Given the description of an element on the screen output the (x, y) to click on. 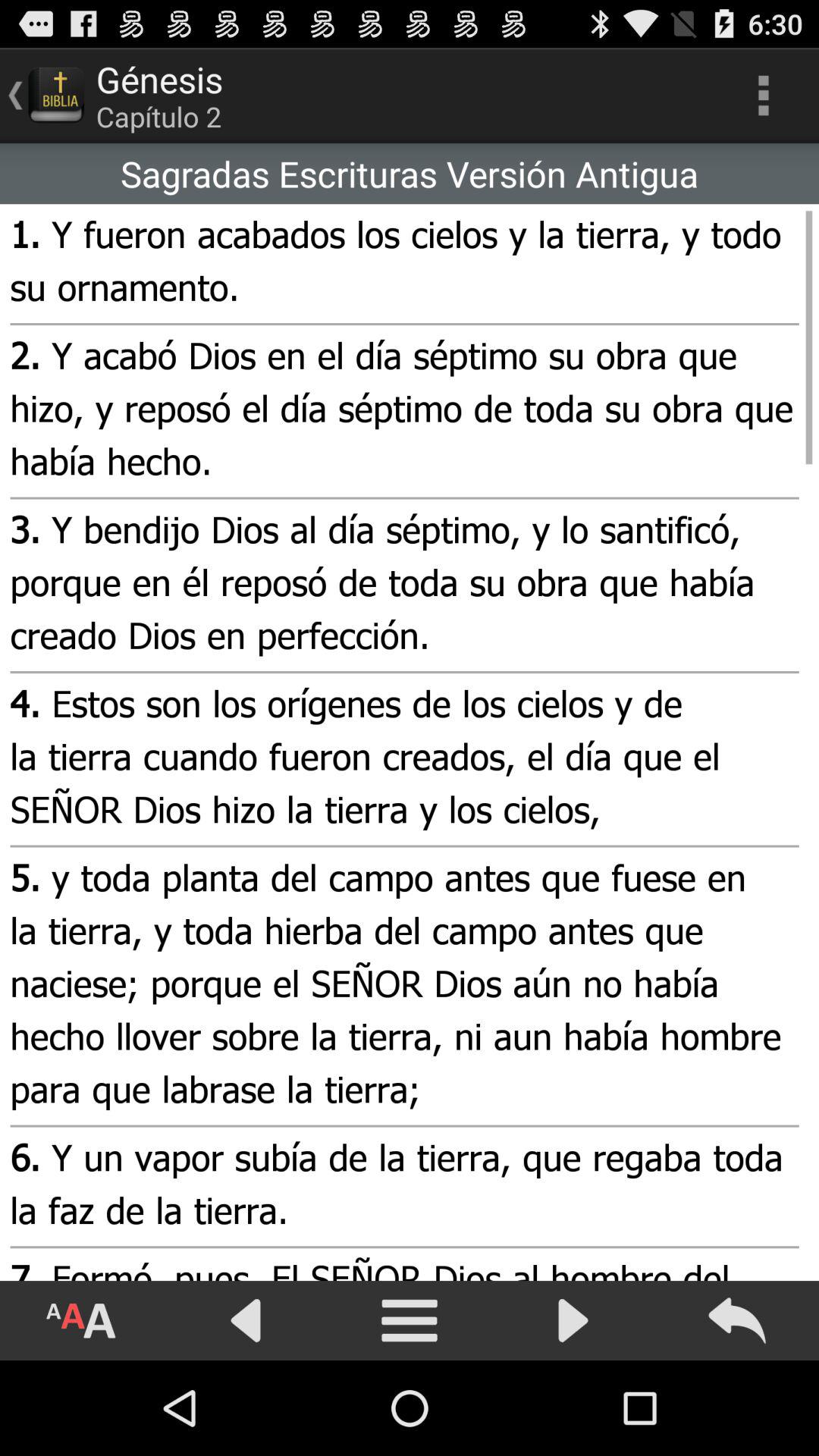
scroll to the 4 estos son (402, 759)
